Given the description of an element on the screen output the (x, y) to click on. 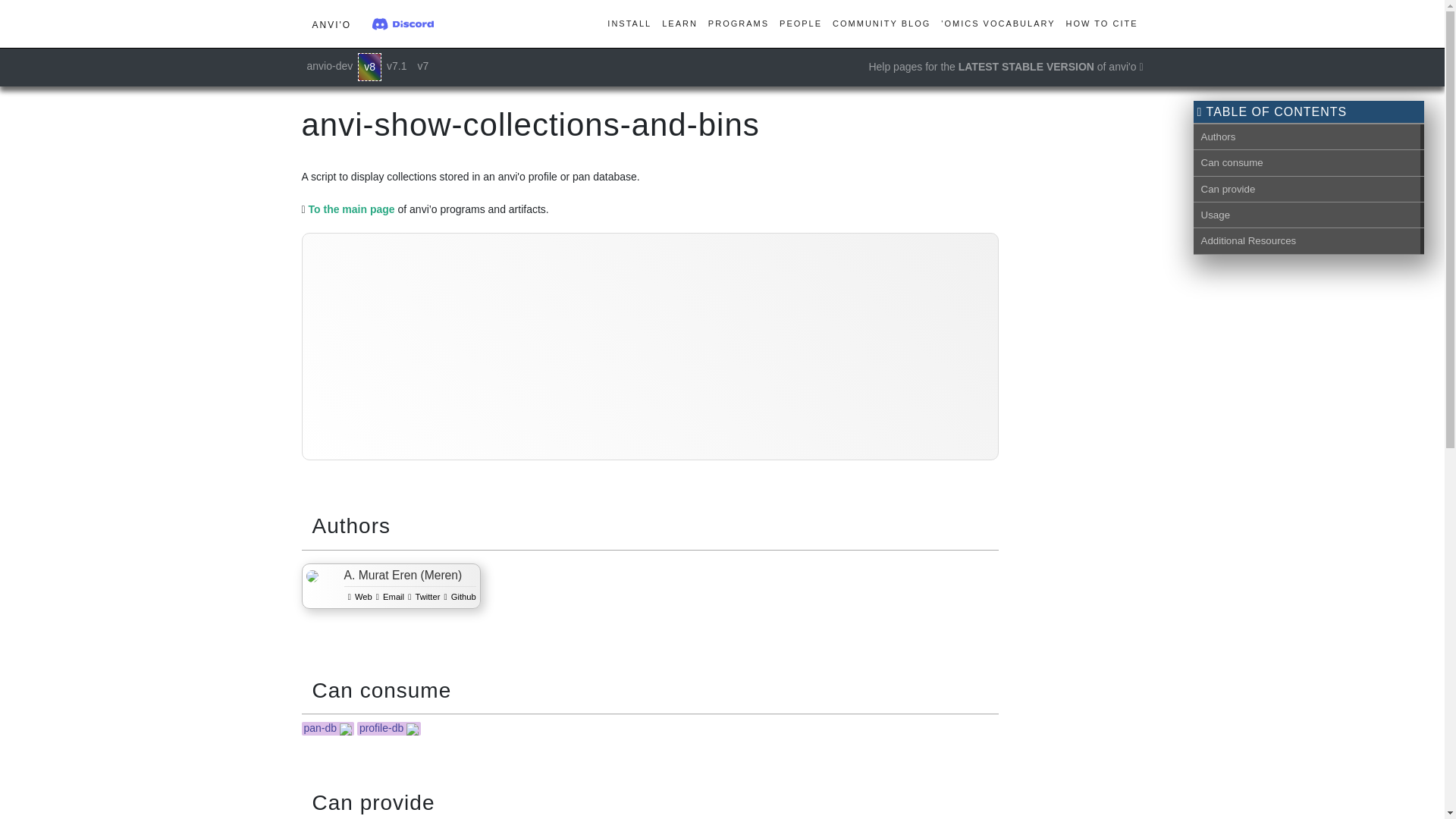
Web (357, 596)
LEARN (679, 24)
Email (388, 596)
Usage (1307, 214)
pan-db (319, 727)
PEOPLE (800, 24)
PEOPLE (800, 24)
anvio-dev (329, 66)
Twitter (421, 596)
HOW TO CITE (1101, 24)
COMMUNITY BLOG (881, 24)
COMMUNITY BLOG (881, 24)
PROGRAMS (738, 24)
'OMICS VOCABULARY (997, 24)
Authors (1307, 136)
